Given the description of an element on the screen output the (x, y) to click on. 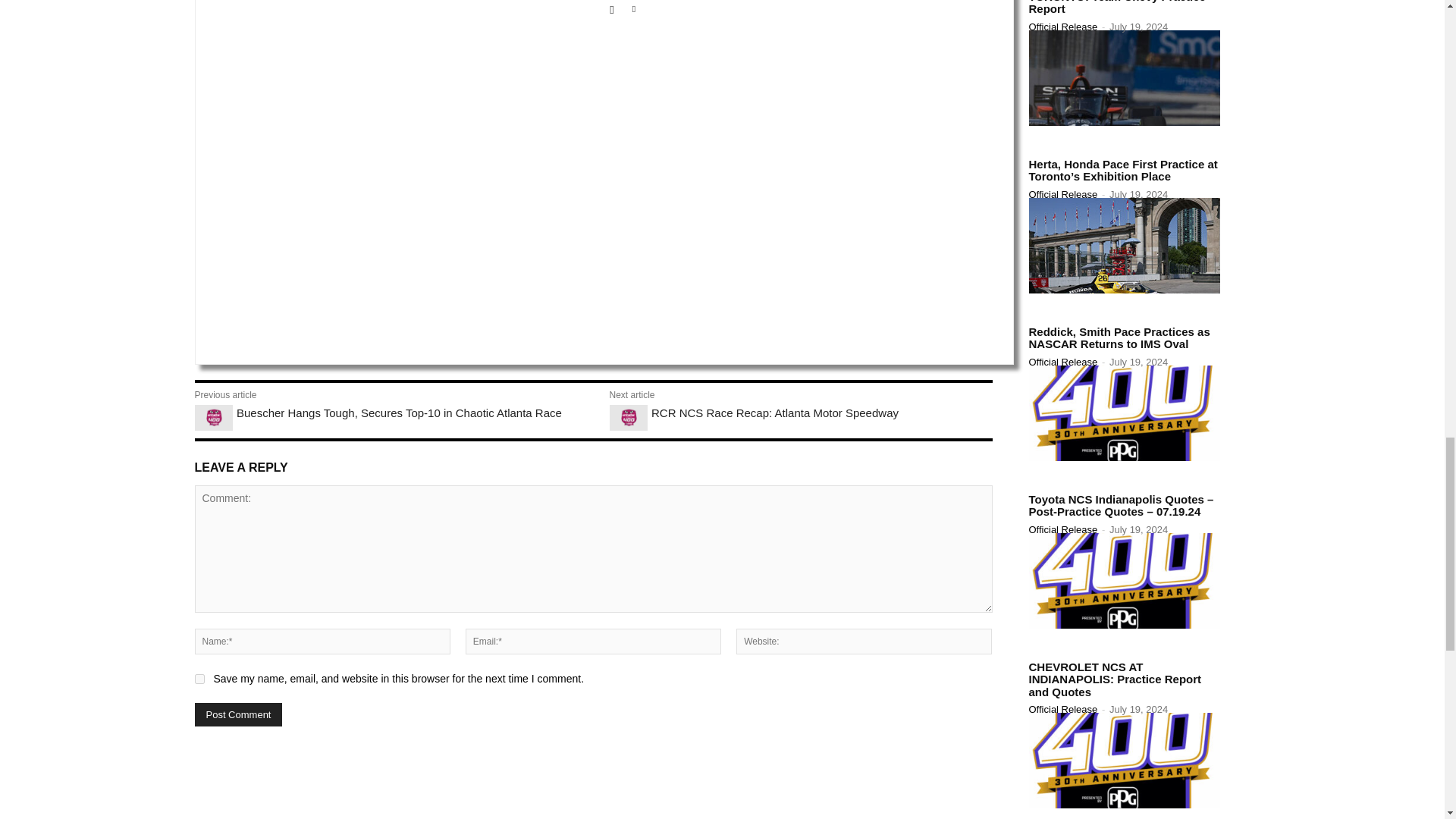
yes (198, 678)
Post Comment (237, 714)
